Given the description of an element on the screen output the (x, y) to click on. 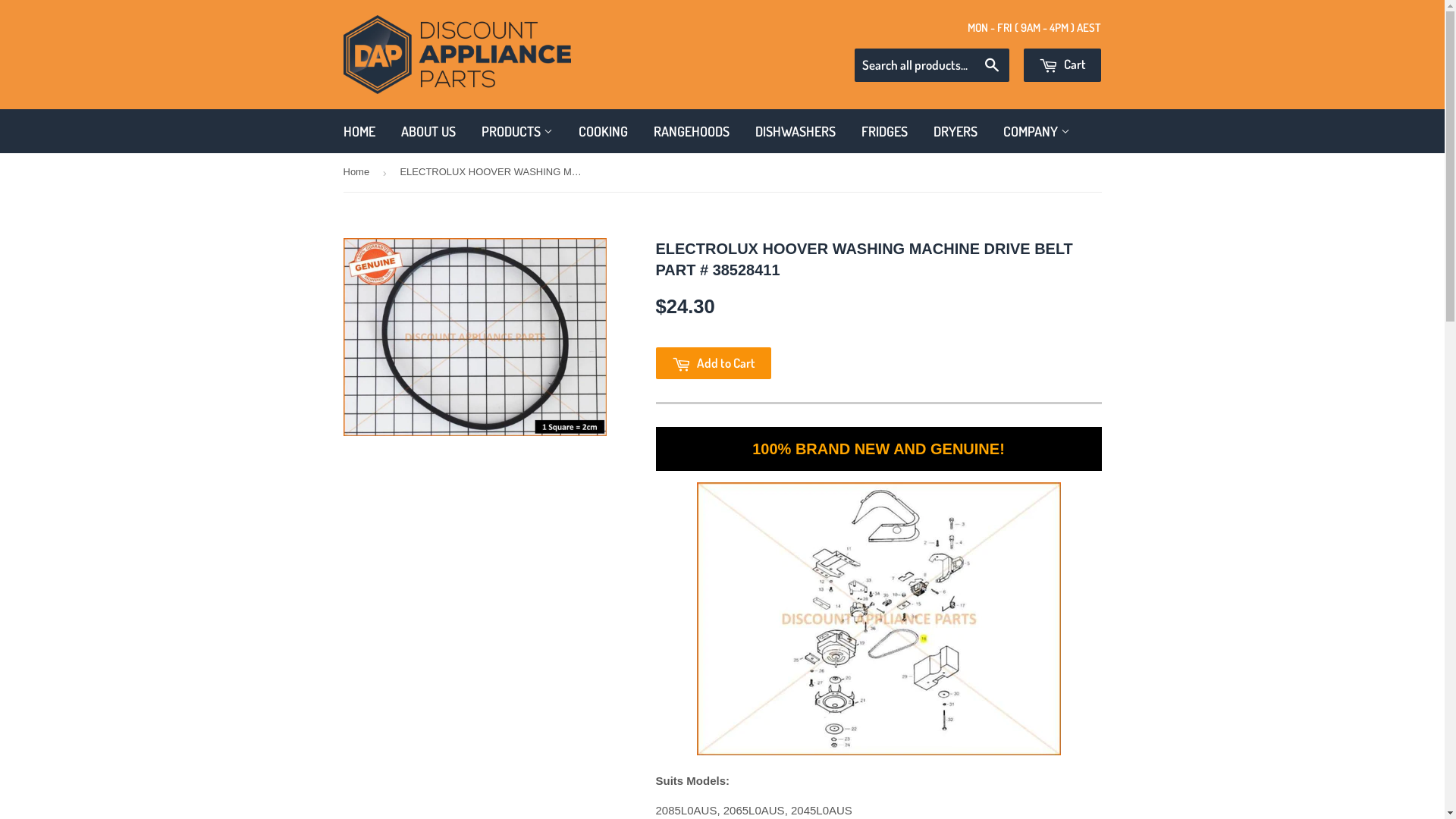
Add to Cart Element type: text (712, 363)
RANGEHOODS Element type: text (690, 131)
Search Element type: text (992, 65)
Cart Element type: text (1062, 64)
DISHWASHERS Element type: text (794, 131)
ABOUT US Element type: text (428, 131)
DRYERS Element type: text (955, 131)
COOKING Element type: text (603, 131)
Home Element type: text (358, 172)
FRIDGES Element type: text (883, 131)
COMPANY Element type: text (1036, 131)
PRODUCTS Element type: text (517, 131)
HOME Element type: text (359, 131)
